Given the description of an element on the screen output the (x, y) to click on. 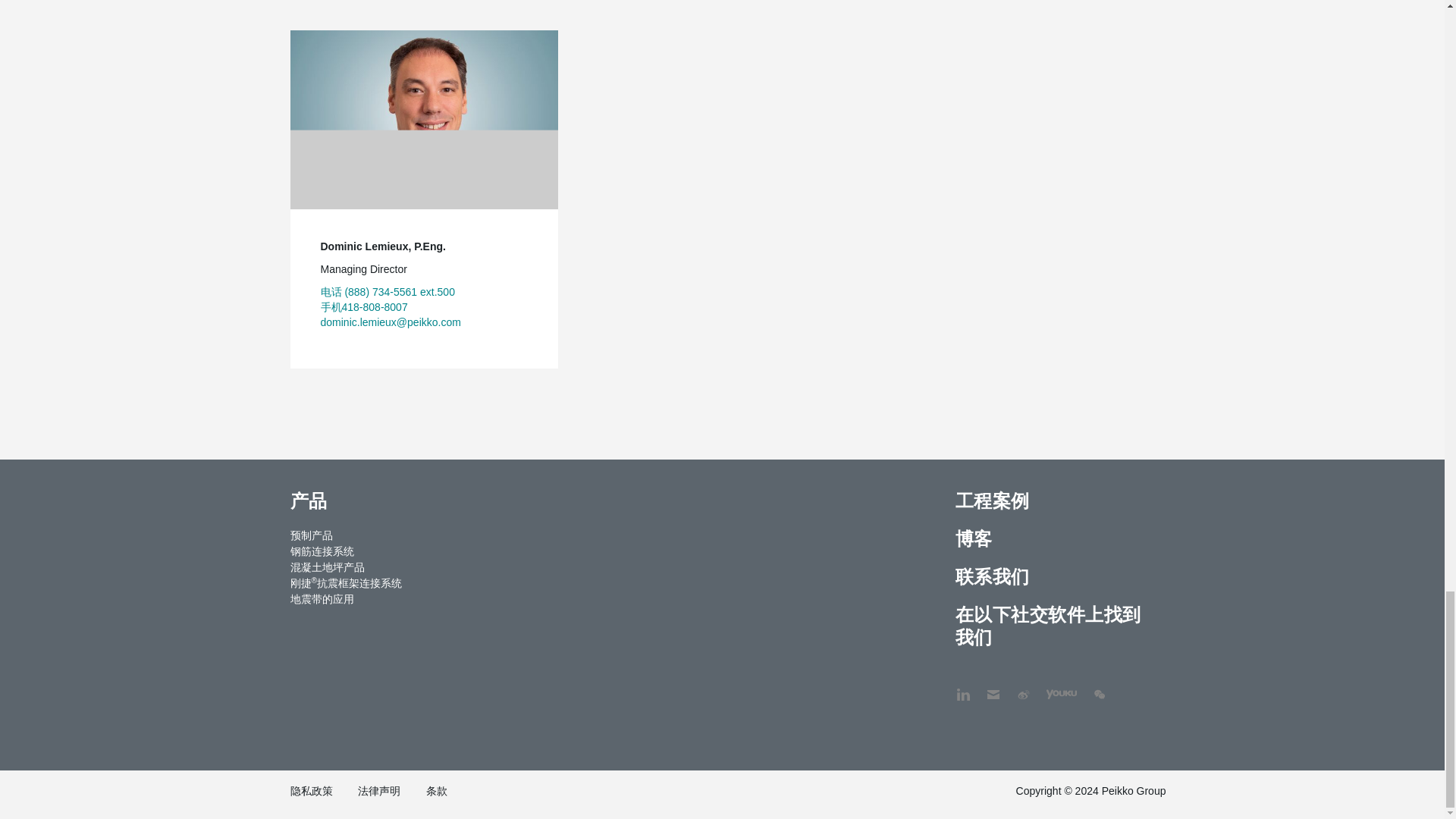
Contact Us (993, 686)
Weibo (1023, 686)
Youku (1053, 686)
LinkedIn (963, 686)
WeChat (1099, 686)
